Given the description of an element on the screen output the (x, y) to click on. 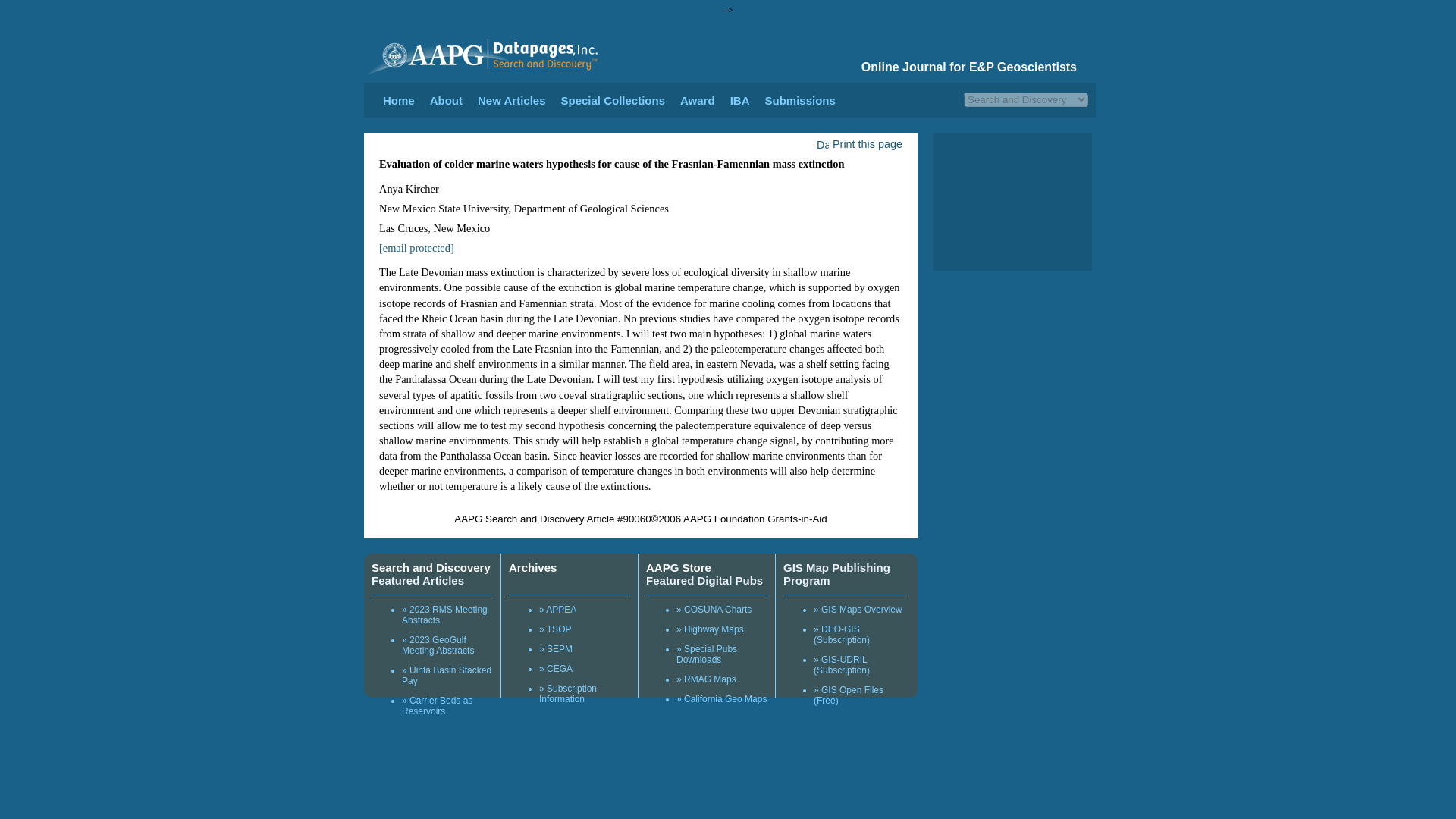
Home (398, 100)
Submissions (799, 100)
New Articles (510, 100)
Search and Discovery (430, 567)
IBA (739, 100)
Special Collections (612, 100)
Award (696, 100)
Print this page (858, 143)
About (446, 100)
